Given the description of an element on the screen output the (x, y) to click on. 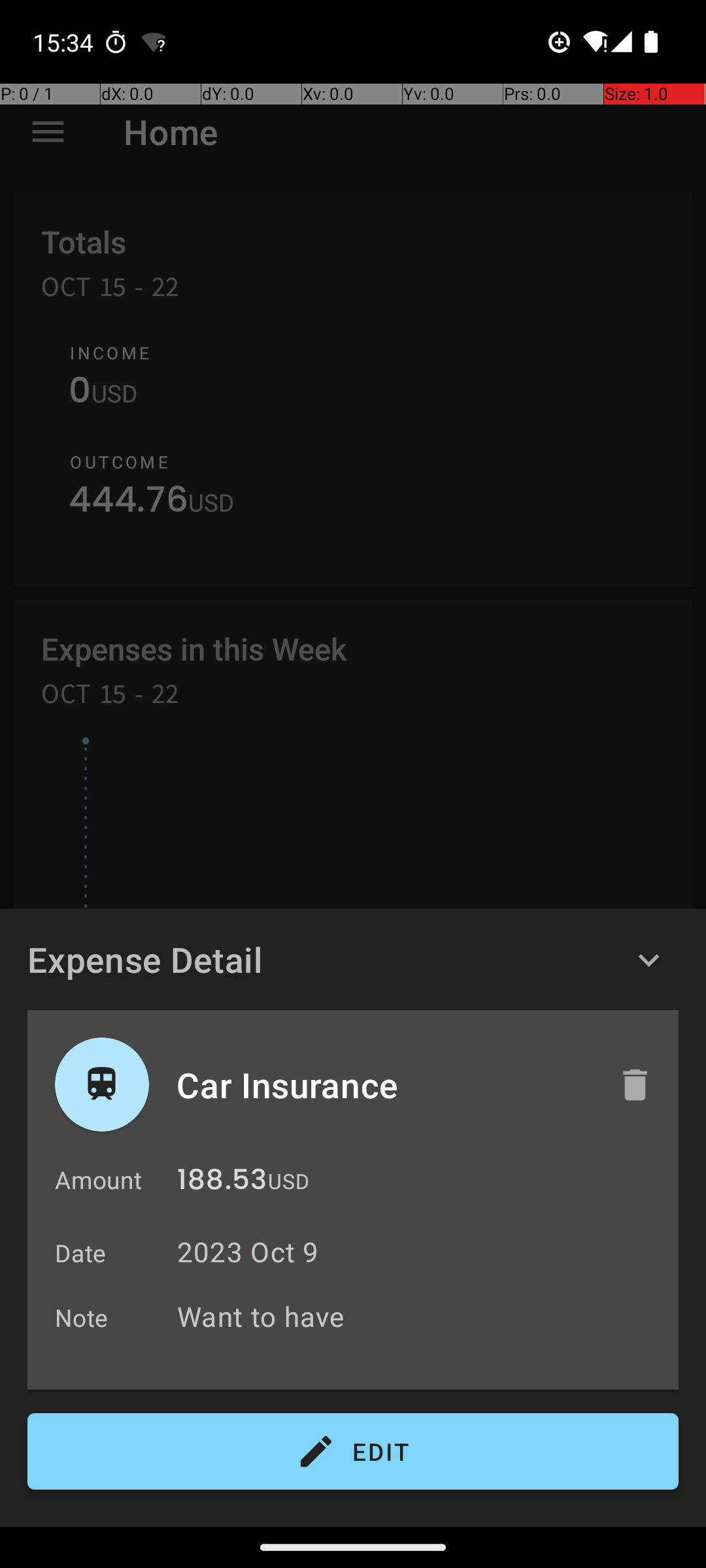
188.53 Element type: android.widget.TextView (221, 1182)
